Given the description of an element on the screen output the (x, y) to click on. 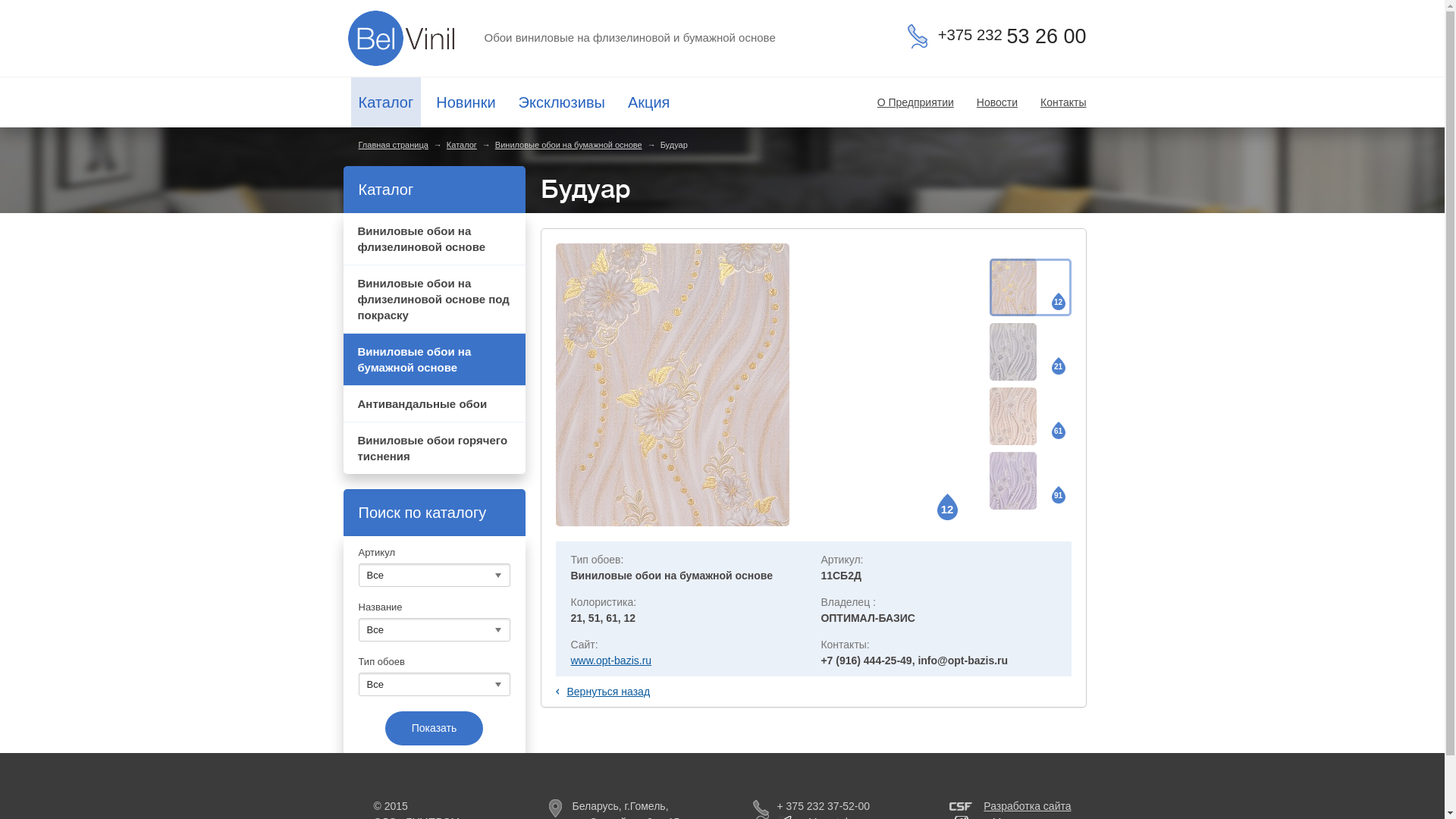
+ 375 232 37-52-00 Element type: text (810, 806)
www.opt-bazis.ru Element type: text (610, 660)
+375 232 53 26 00 Element type: text (996, 36)
